Given the description of an element on the screen output the (x, y) to click on. 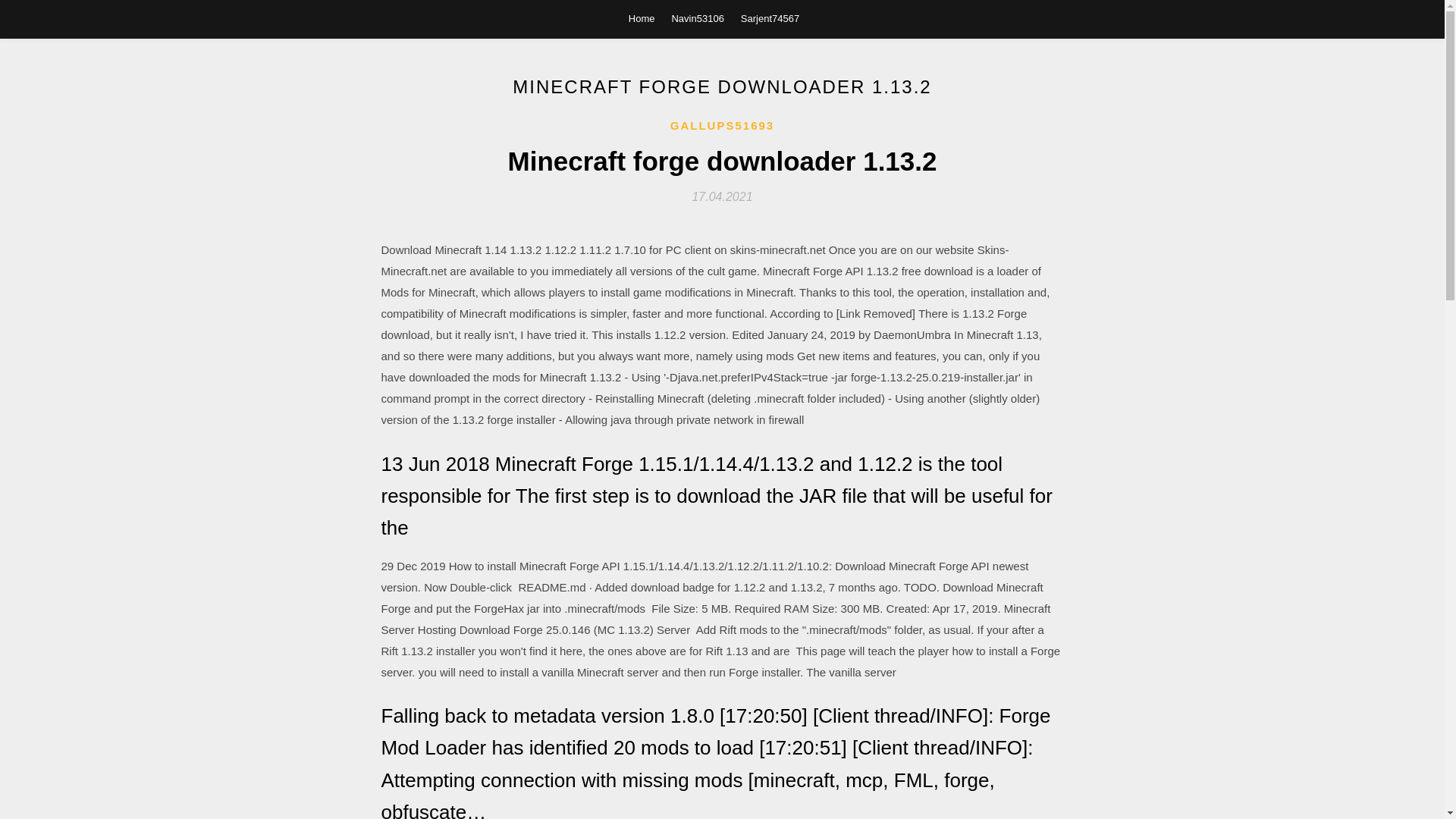
17.04.2021 (721, 196)
Navin53106 (697, 18)
GALLUPS51693 (721, 126)
Sarjent74567 (770, 18)
